Given the description of an element on the screen output the (x, y) to click on. 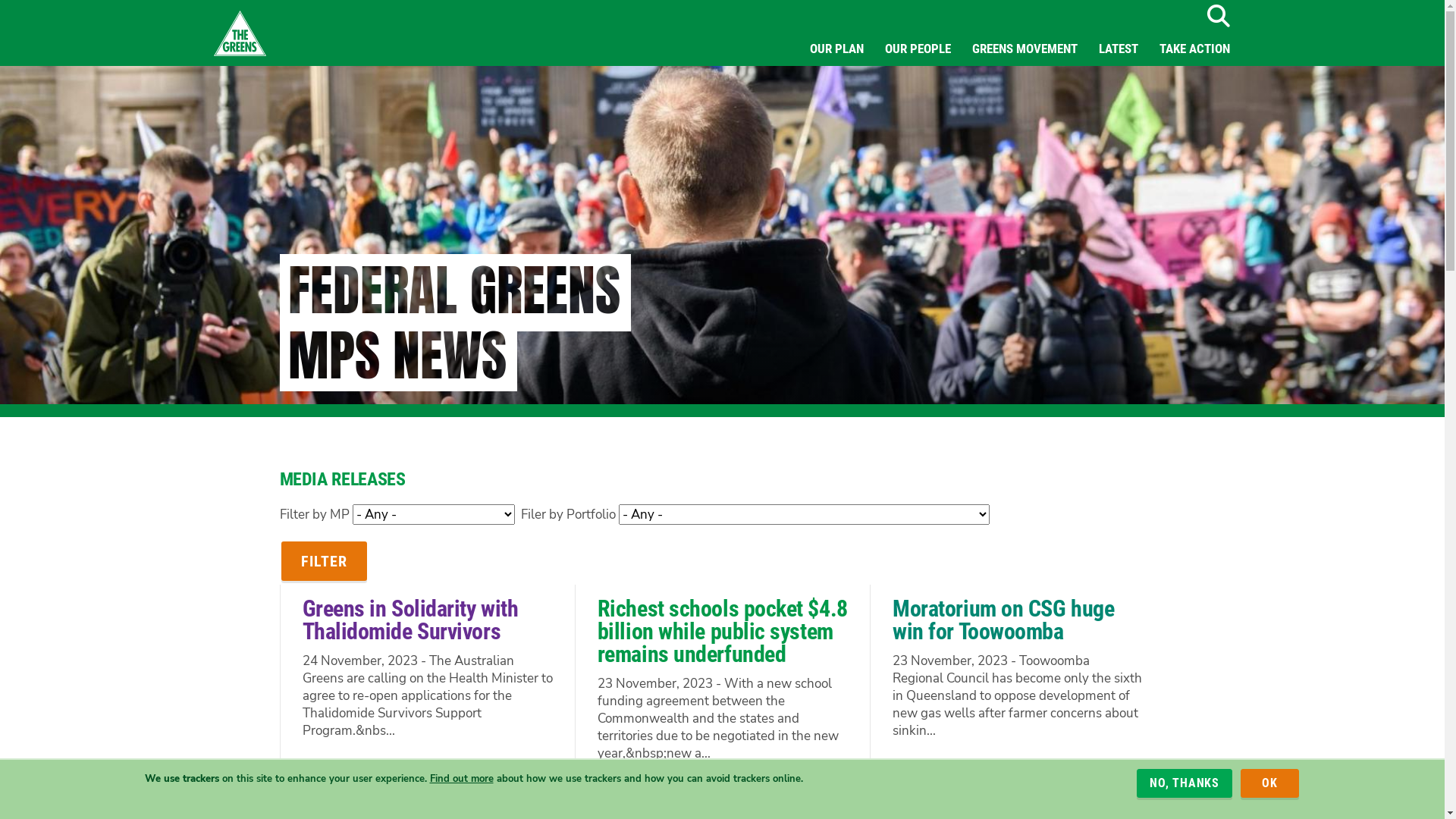
Greens in Solidarity with Thalidomide Survivors Element type: text (409, 619)
OK Element type: text (1269, 782)
OUR PEOPLE Element type: text (916, 48)
Moratorium on CSG huge win for Toowoomba Element type: text (1002, 619)
Find out more Element type: text (460, 778)
GREENS MOVEMENT Element type: text (1024, 48)
OUR PLAN Element type: text (836, 48)
Skip to main content Element type: text (0, 0)
Filter Element type: text (323, 560)
NO, THANKS Element type: text (1184, 782)
Search Element type: text (1217, 15)
TAKE ACTION Element type: text (1193, 48)
LATEST Element type: text (1117, 48)
